Given the description of an element on the screen output the (x, y) to click on. 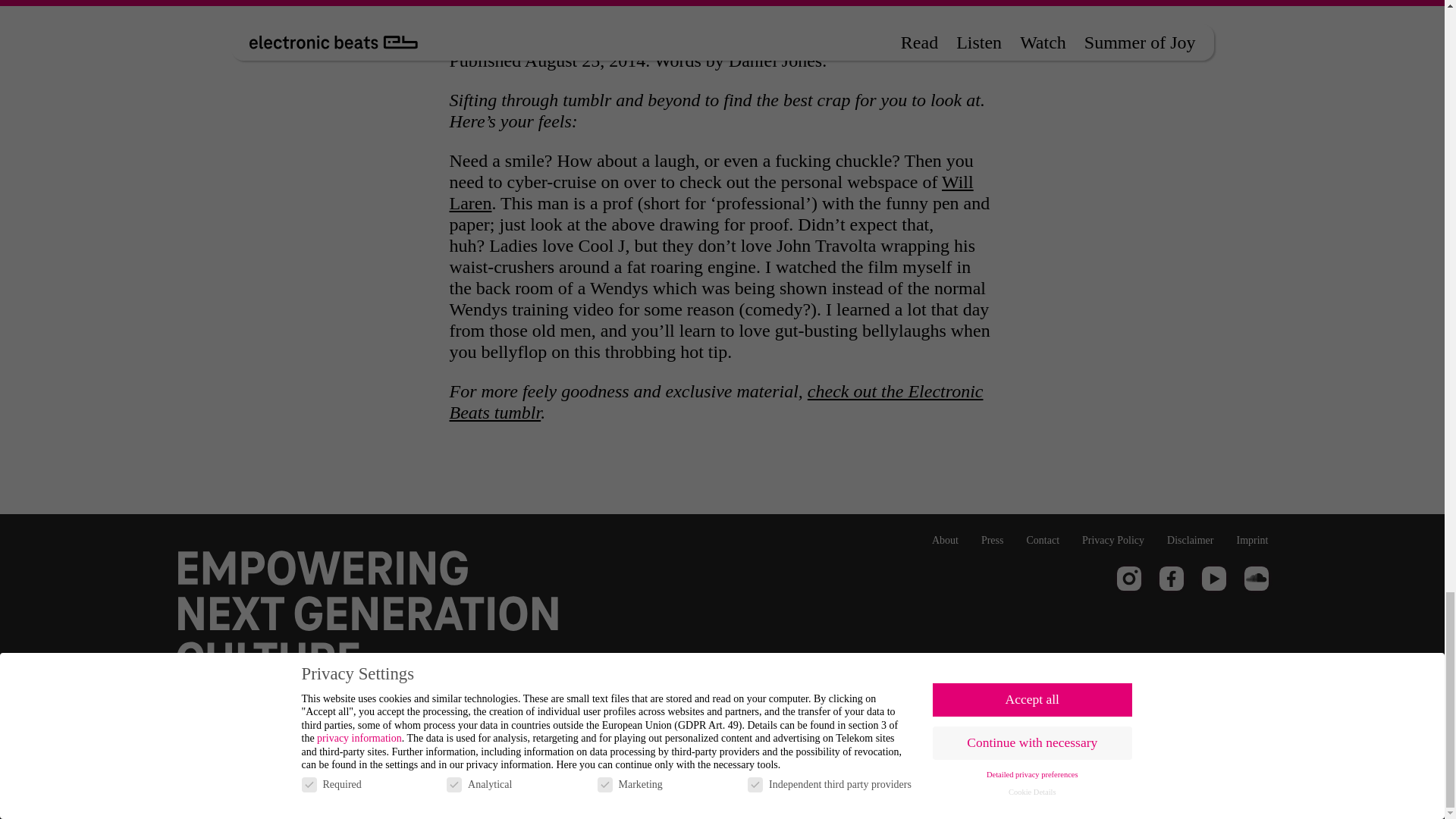
Soundcloud (1255, 578)
About (944, 540)
Imprint (1252, 540)
Youtube (1213, 578)
check out the Electronic Beats tumblr (715, 401)
Contact (1042, 540)
Facebook (1170, 578)
Disclaimer (1189, 540)
Will Laren (710, 191)
Press (992, 540)
